Given the description of an element on the screen output the (x, y) to click on. 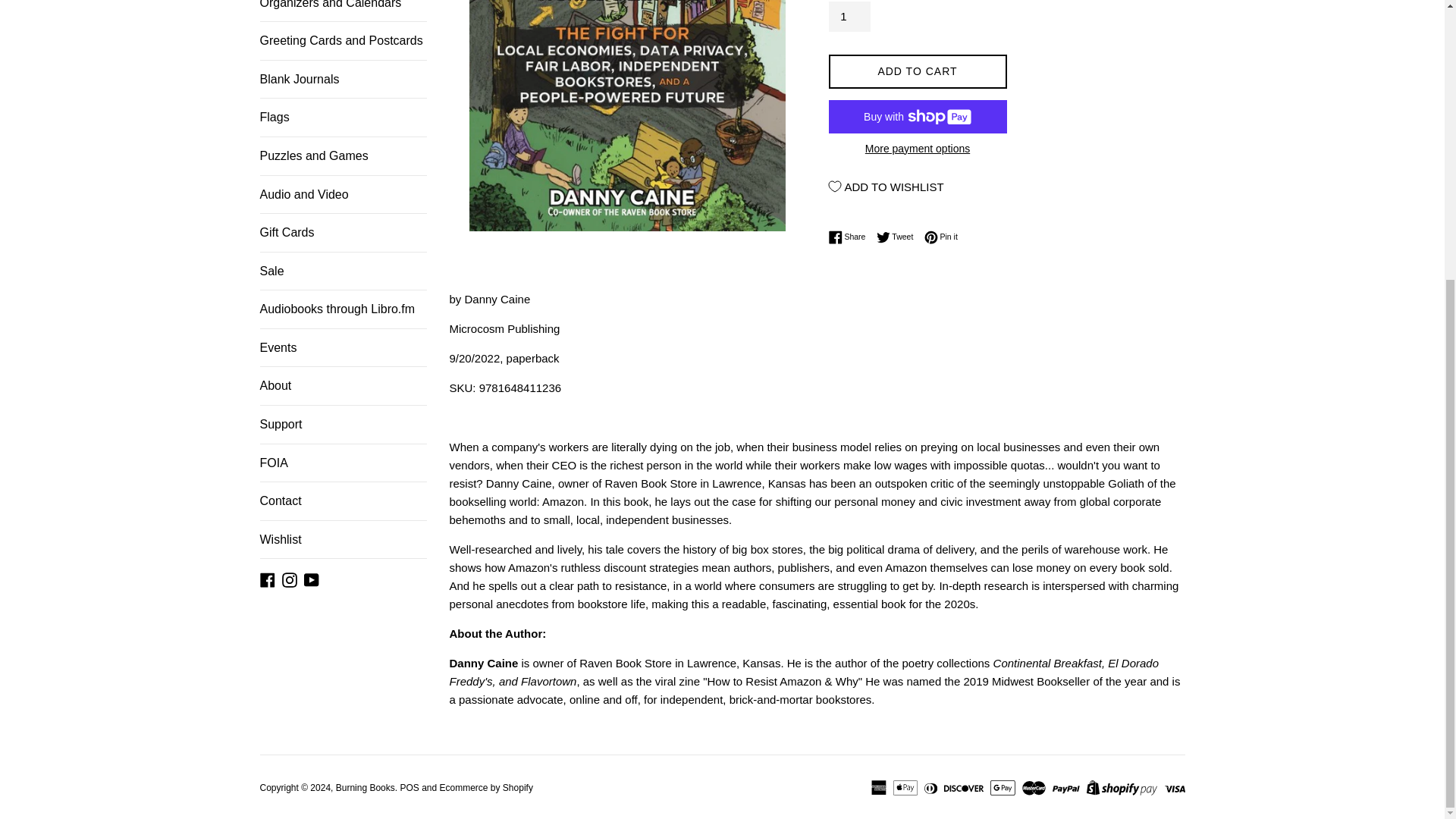
Pin on Pinterest (941, 237)
Share on Facebook (850, 237)
Add to Wishlist (885, 185)
Burning Books on Instagram (289, 578)
1 (848, 16)
Burning Books on YouTube (311, 578)
Burning Books on Facebook (267, 578)
Tweet on Twitter (898, 237)
